Given the description of an element on the screen output the (x, y) to click on. 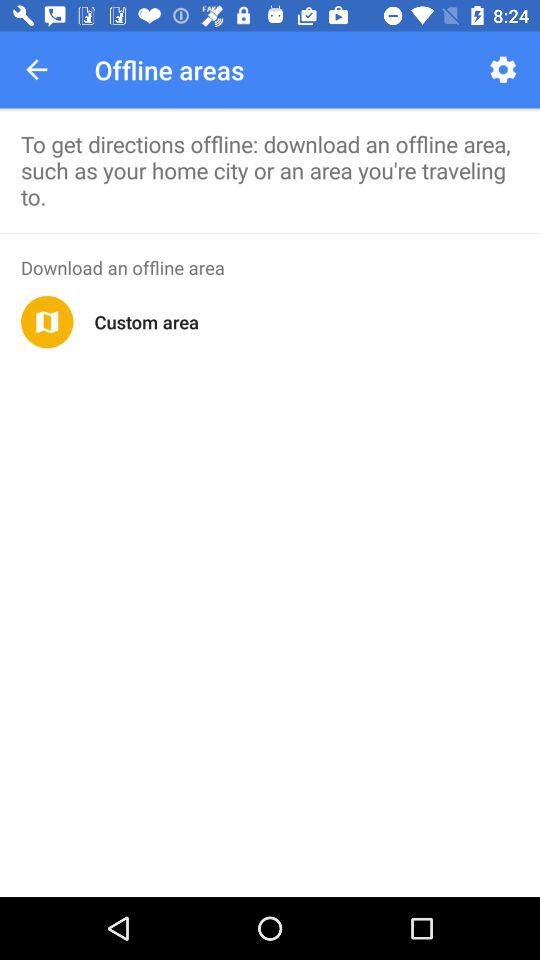
select the icon below the download an offline item (146, 321)
